Given the description of an element on the screen output the (x, y) to click on. 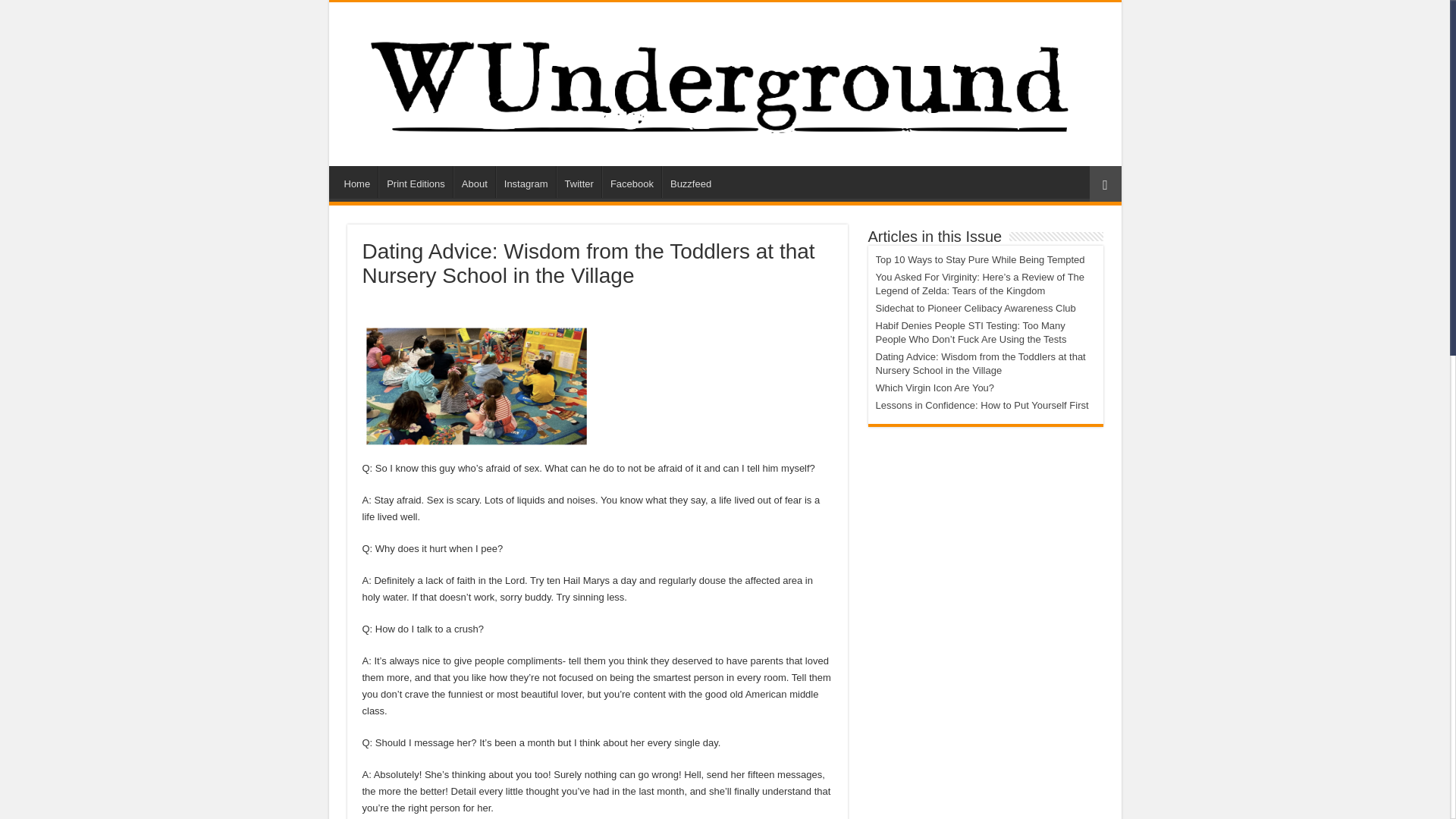
Download This Theme (357, 182)
Which Virgin Icon Are You? (934, 387)
Which Virgin Icon Are You? (934, 387)
Top 10 Ways to Stay Pure While Being Tempted (979, 259)
WUnderground (724, 81)
Sidechat to Pioneer Celibacy Awareness Club (975, 307)
Facebook (631, 182)
Twitter (578, 182)
